Given the description of an element on the screen output the (x, y) to click on. 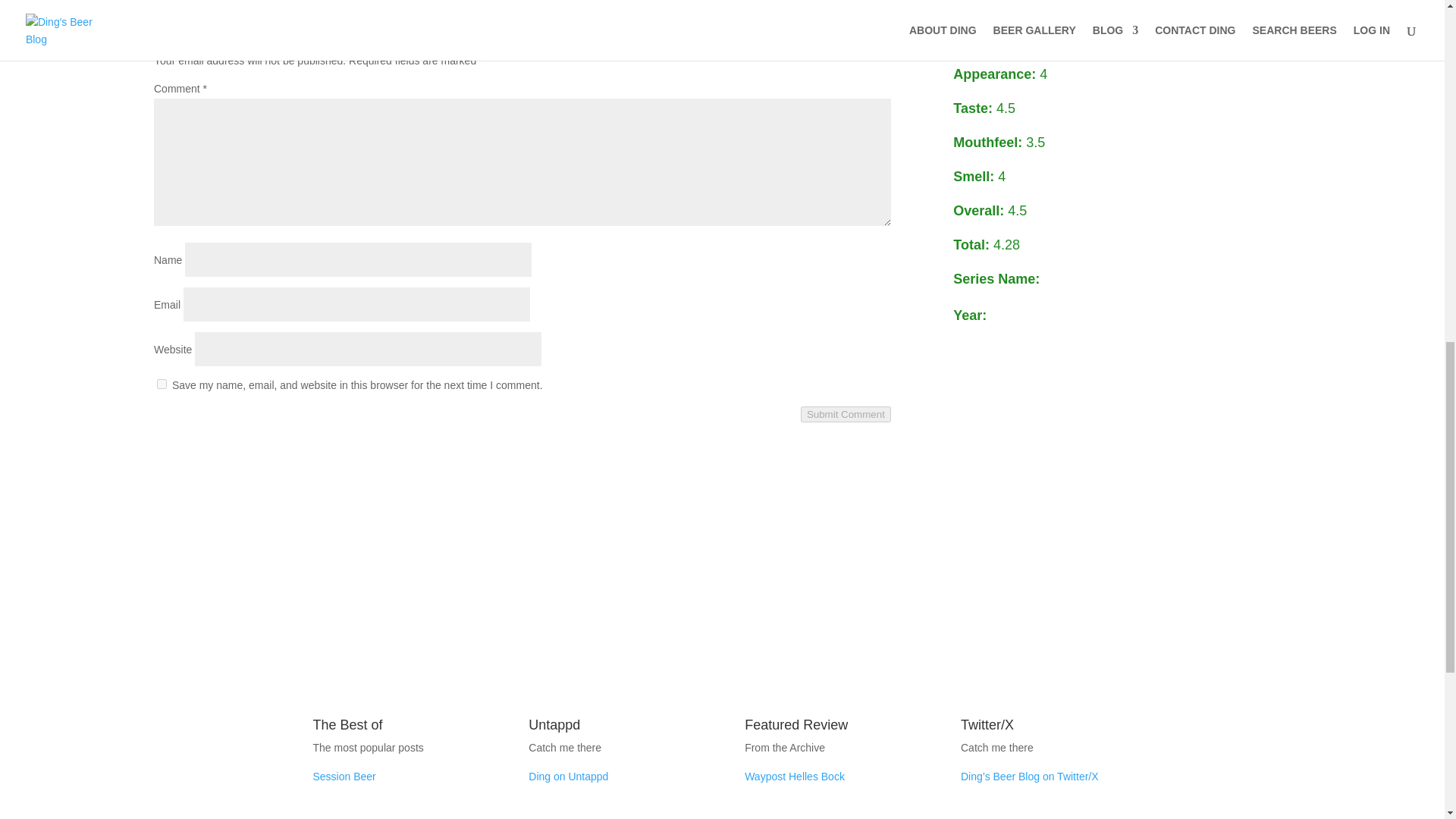
Session Beer (344, 776)
Ding on Untappd (568, 776)
yes (162, 384)
Waypost Helles Bock (794, 776)
Submit Comment (845, 414)
